Given the description of an element on the screen output the (x, y) to click on. 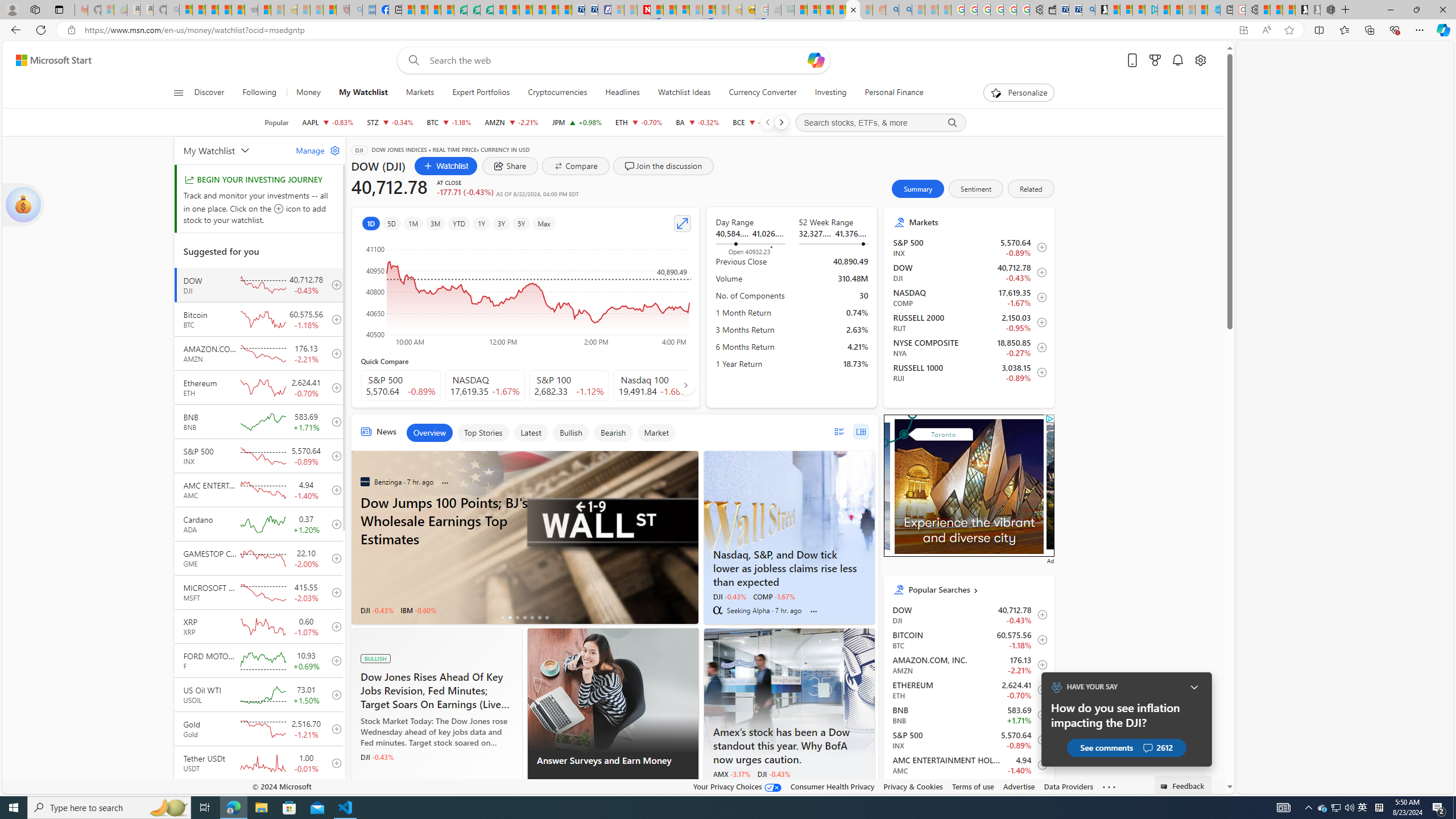
add to your watchlist (333, 797)
My Watchlist (362, 92)
grid layout (861, 431)
AutomationID: wheel (883, 415)
AMZN AMAZON.COM, INC. decrease 176.13 -3.98 -2.21% (511, 122)
Watchlist Ideas (684, 92)
